Given the description of an element on the screen output the (x, y) to click on. 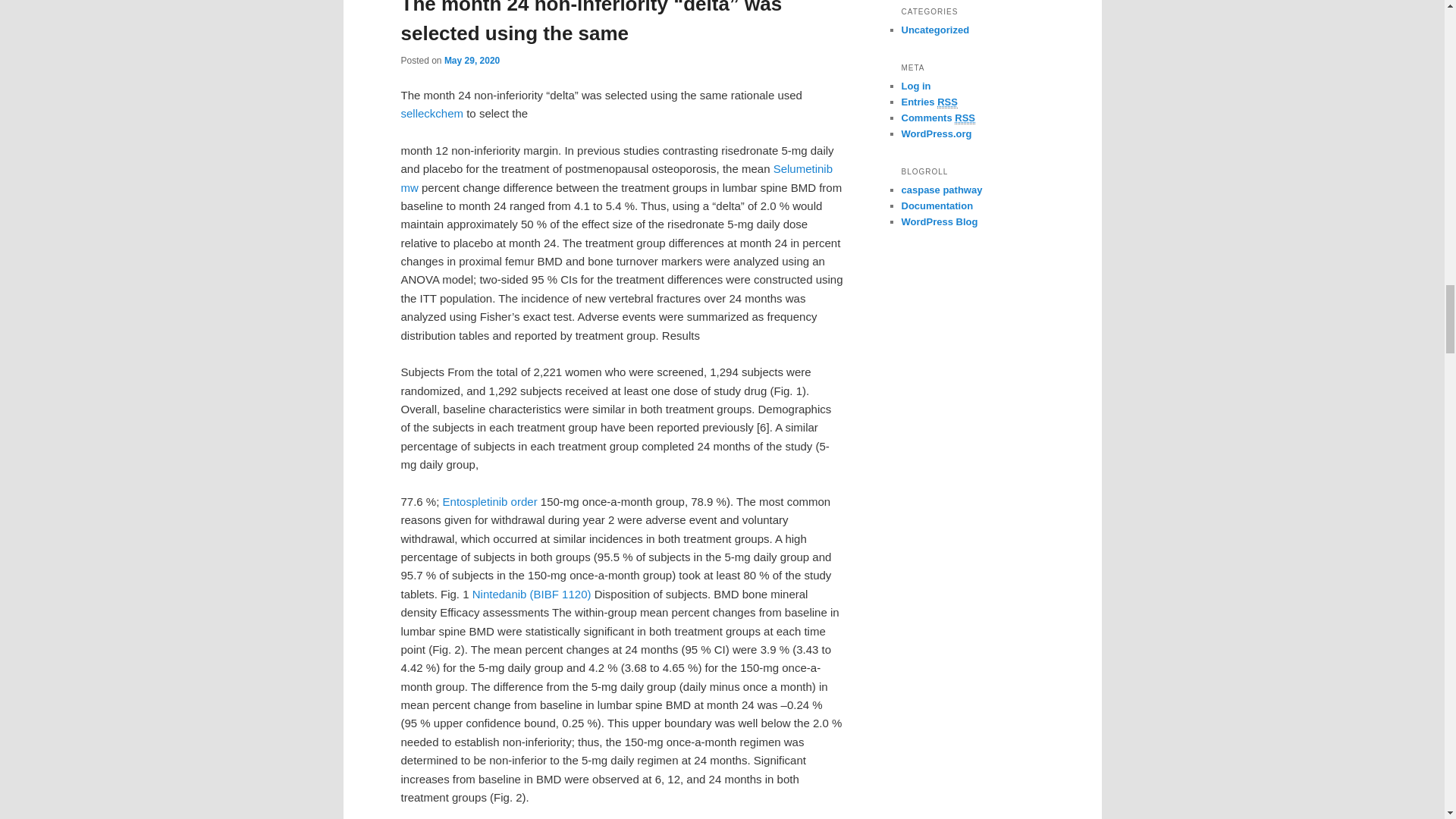
selleckchem (431, 113)
May 29, 2020 (471, 60)
